Given the description of an element on the screen output the (x, y) to click on. 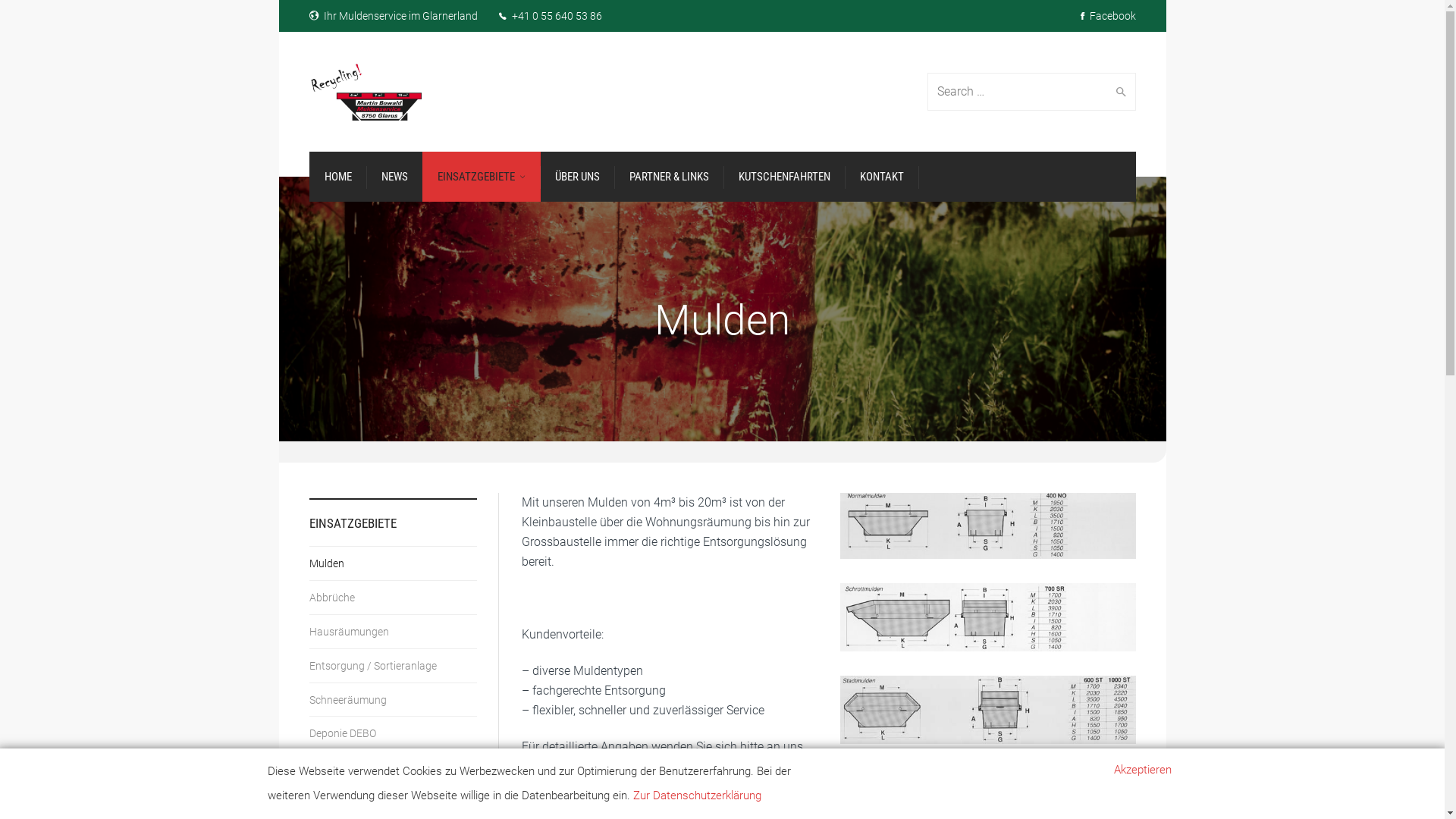
PARTNER & LINKS Element type: text (669, 176)
KONTAKT Element type: text (881, 176)
NEWS Element type: text (393, 176)
Entsorgung / Sortieranlage Element type: text (392, 665)
Akzeptieren Element type: text (1141, 769)
Search Element type: text (1117, 91)
KUTSCHENFAHRTEN Element type: text (784, 176)
HOME Element type: text (338, 176)
Mulden Element type: text (392, 563)
EINSATZGEBIETE Element type: text (480, 176)
Wagenpark Element type: text (392, 766)
E-Mail Element type: text (625, 766)
Deponie DEBO Element type: text (392, 732)
Facebook Element type: text (1107, 15)
